Given the description of an element on the screen output the (x, y) to click on. 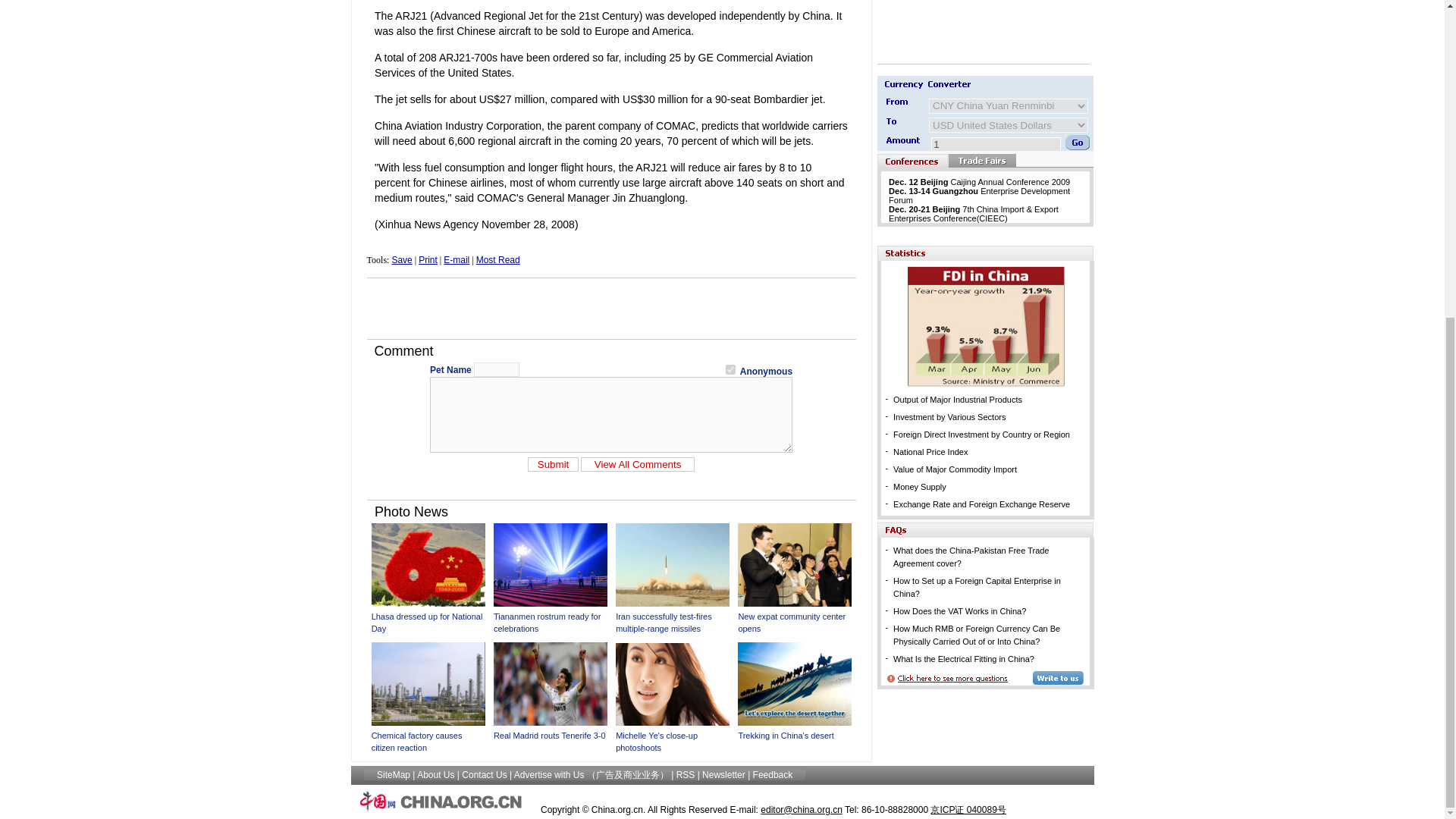
Submit (552, 463)
Advertisement (972, 28)
1 (730, 369)
Investment by Various Sectors (949, 416)
Save (401, 259)
E-mail (456, 259)
Most Read (497, 259)
Print (428, 259)
Advertisement (611, 308)
Output of Major Industrial Products (957, 399)
View All Comments (637, 463)
